Given the description of an element on the screen output the (x, y) to click on. 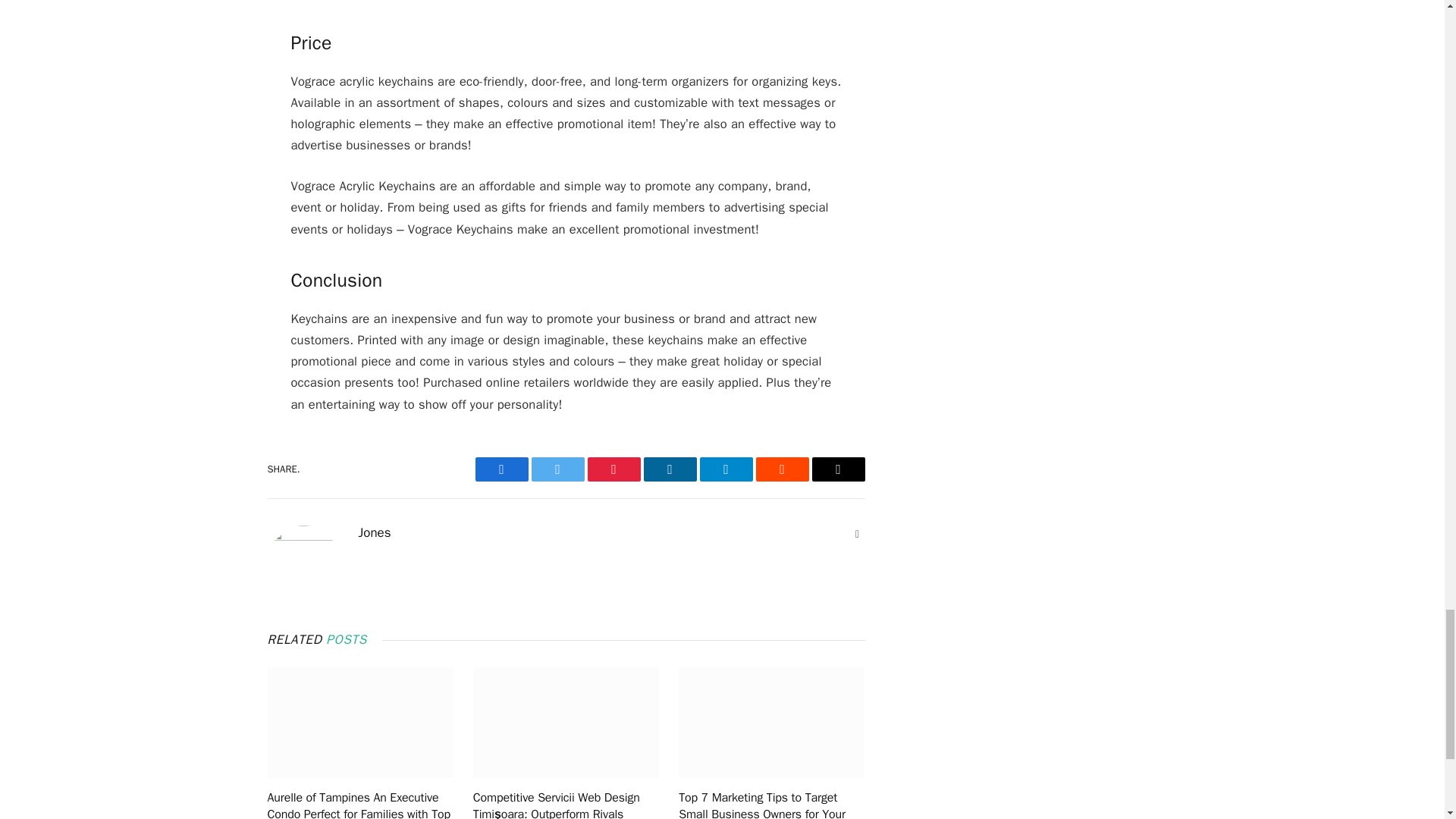
Twitter (557, 469)
Facebook (500, 469)
Pinterest (613, 469)
